Given the description of an element on the screen output the (x, y) to click on. 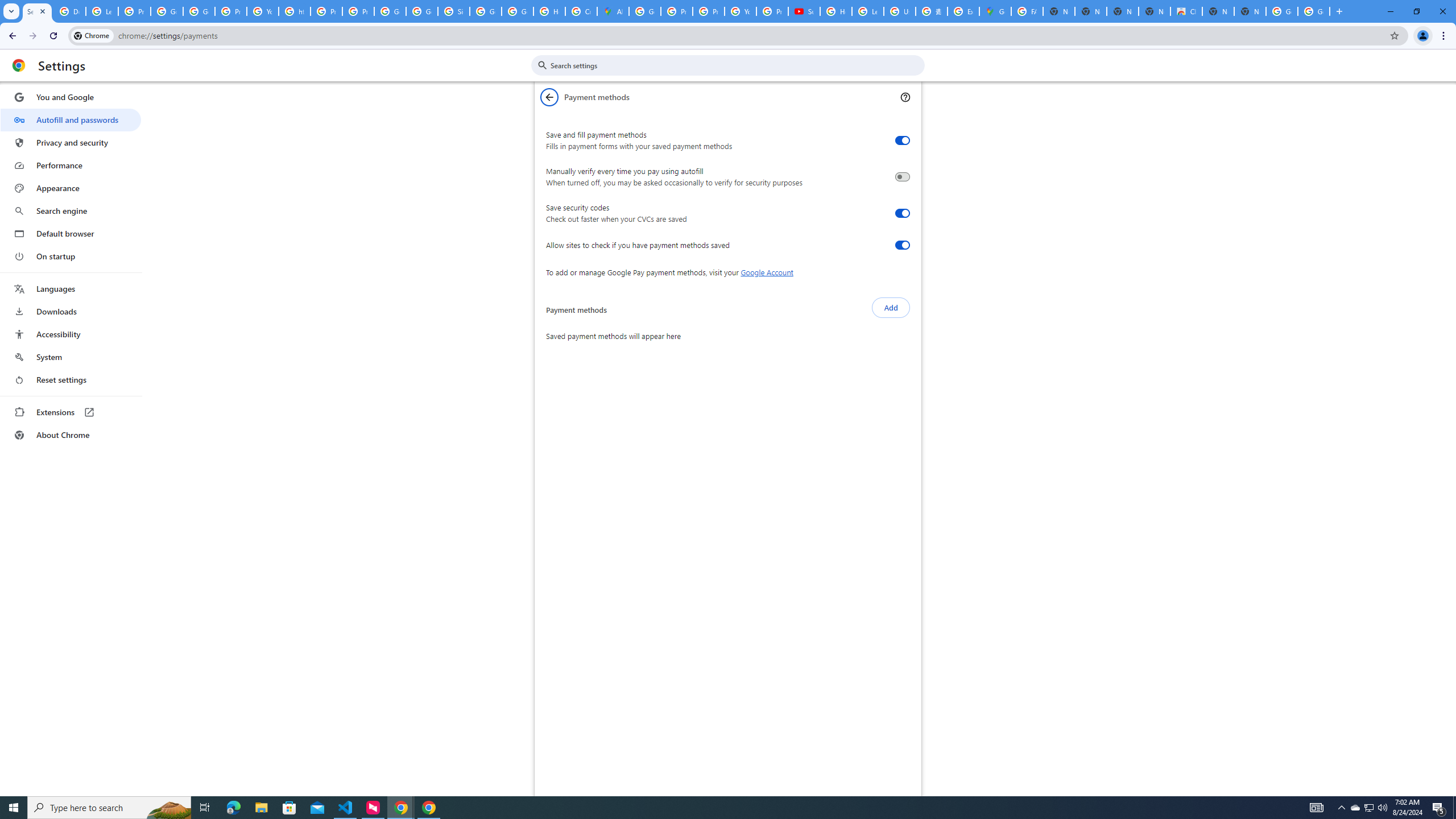
Google Images (1313, 11)
Autofill and passwords (70, 119)
Appearance (70, 187)
How Chrome protects your passwords - Google Chrome Help (836, 11)
Search settings (735, 65)
Privacy and security (70, 142)
Performance (70, 164)
